Given the description of an element on the screen output the (x, y) to click on. 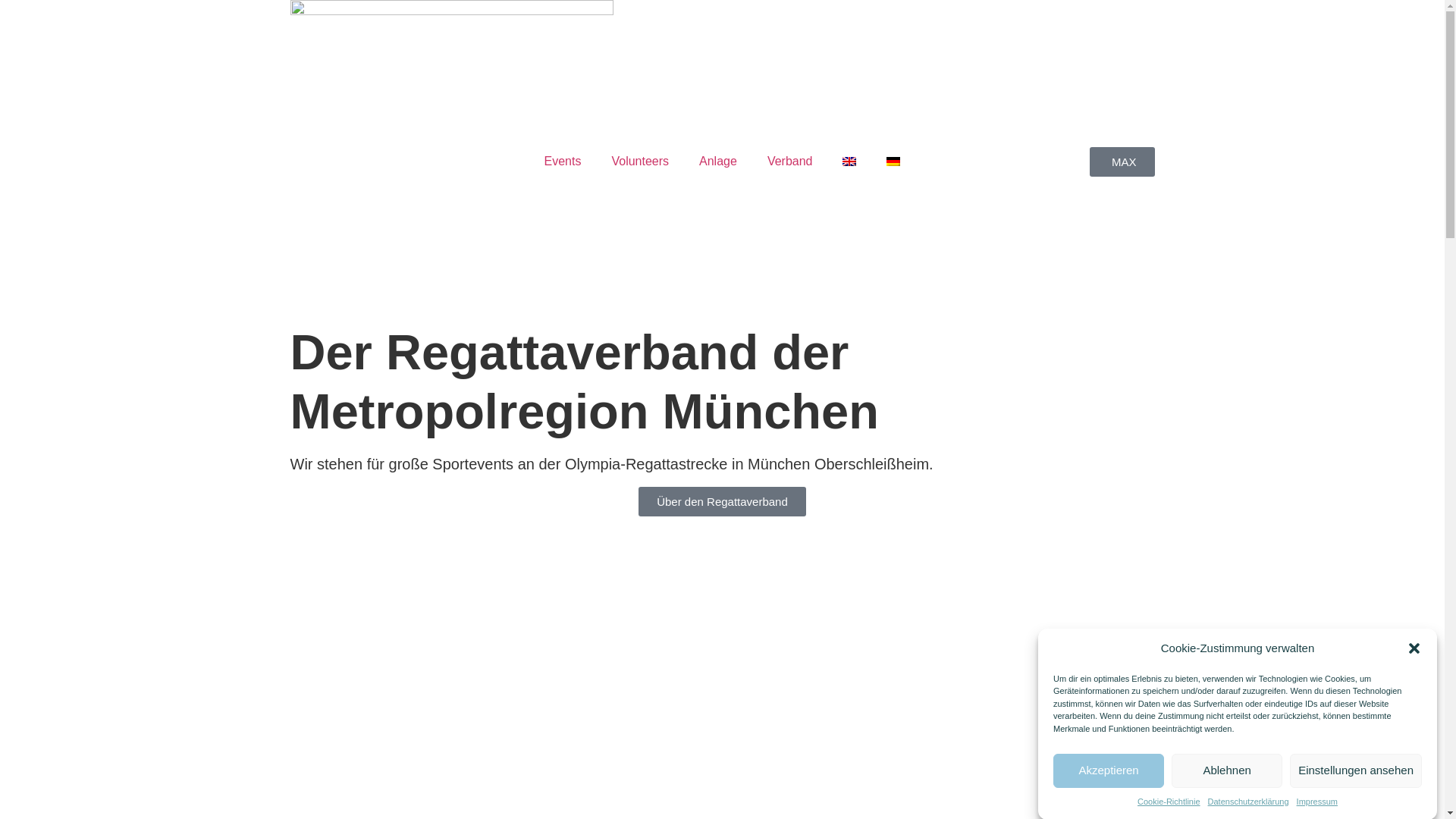
Anlage Element type: text (718, 161)
Einstellungen ansehen Element type: text (1355, 770)
Akzeptieren Element type: text (1108, 770)
MAX Element type: text (1121, 161)
Events Element type: text (562, 161)
Verband Element type: text (790, 161)
Ablehnen Element type: text (1226, 770)
Impressum Element type: text (1316, 800)
Volunteers Element type: text (640, 161)
Cookie-Richtlinie Element type: text (1168, 800)
